Given the description of an element on the screen output the (x, y) to click on. 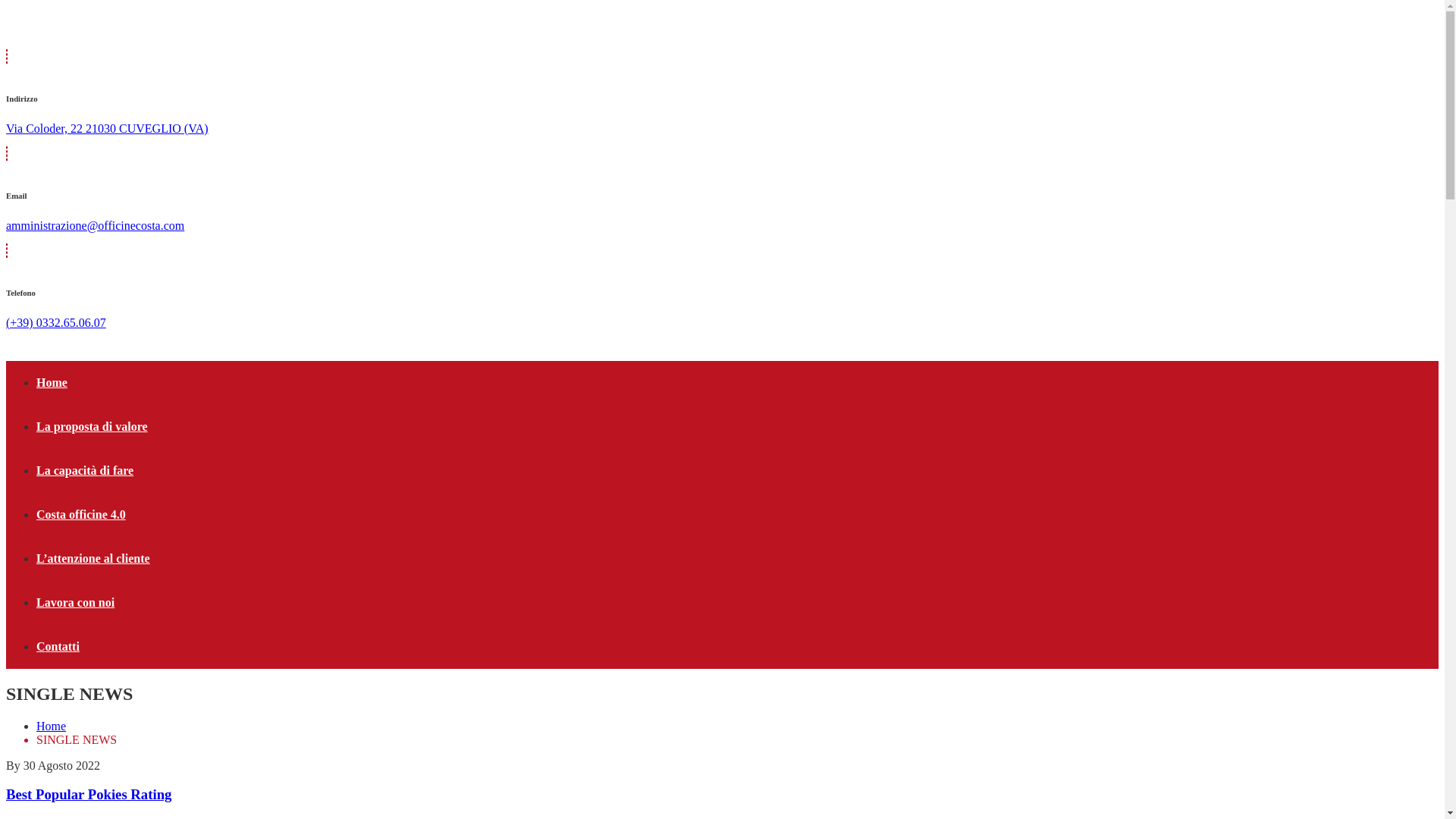
Best Popular Pokies Rating (88, 794)
Home (50, 725)
